Given the description of an element on the screen output the (x, y) to click on. 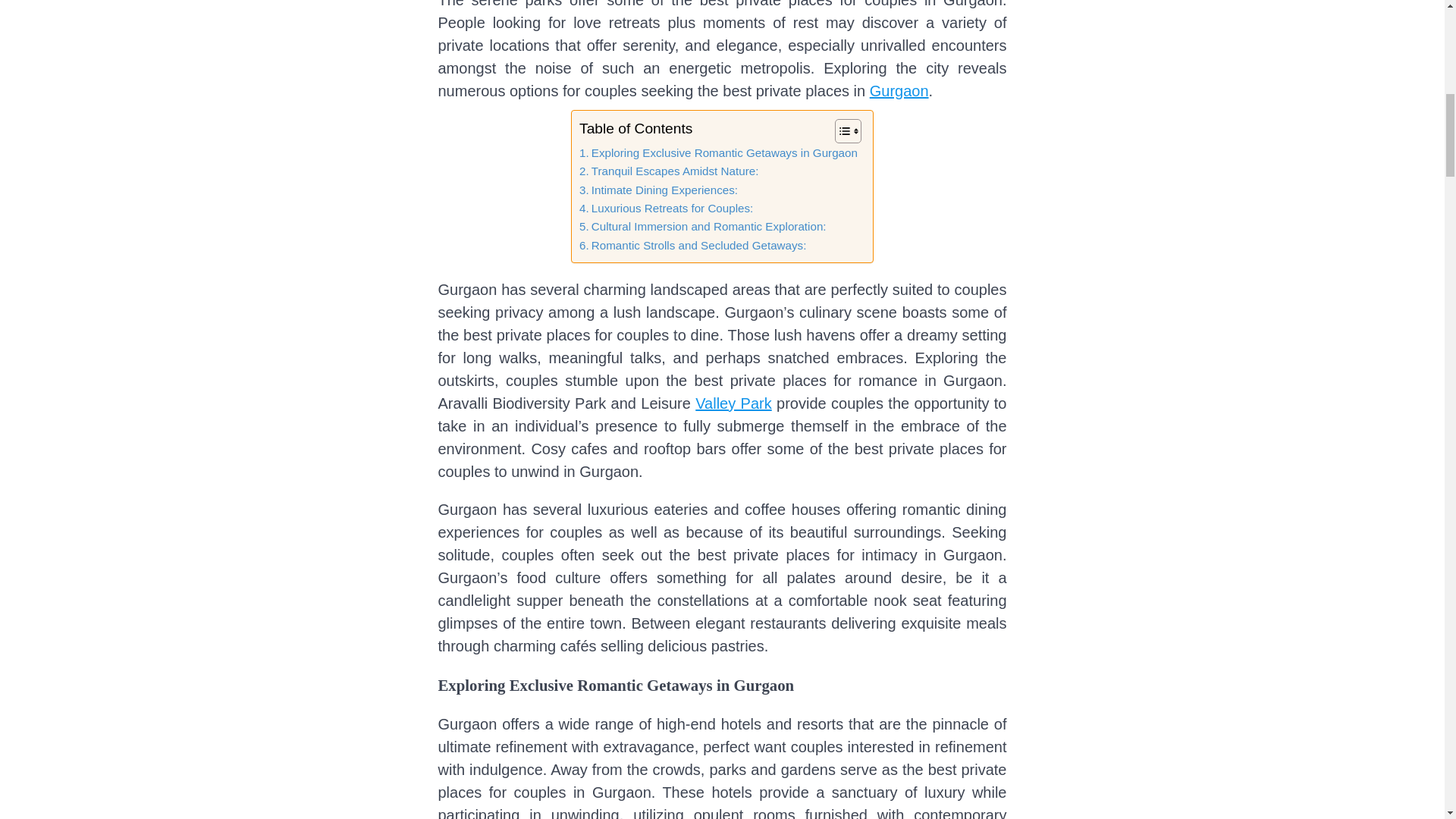
Tranquil Escapes Amidst Nature: (668, 171)
Exploring Exclusive Romantic Getaways in Gurgaon (718, 153)
Exploring Exclusive Romantic Getaways in Gurgaon (718, 153)
Cultural Immersion and Romantic Exploration: (703, 226)
Cultural Immersion and Romantic Exploration: (703, 226)
Intimate Dining Experiences: (658, 189)
Gurgaon (898, 90)
Luxurious Retreats for Couples: (665, 208)
Romantic Strolls and Secluded Getaways: (692, 245)
Tranquil Escapes Amidst Nature: (668, 171)
